Given the description of an element on the screen output the (x, y) to click on. 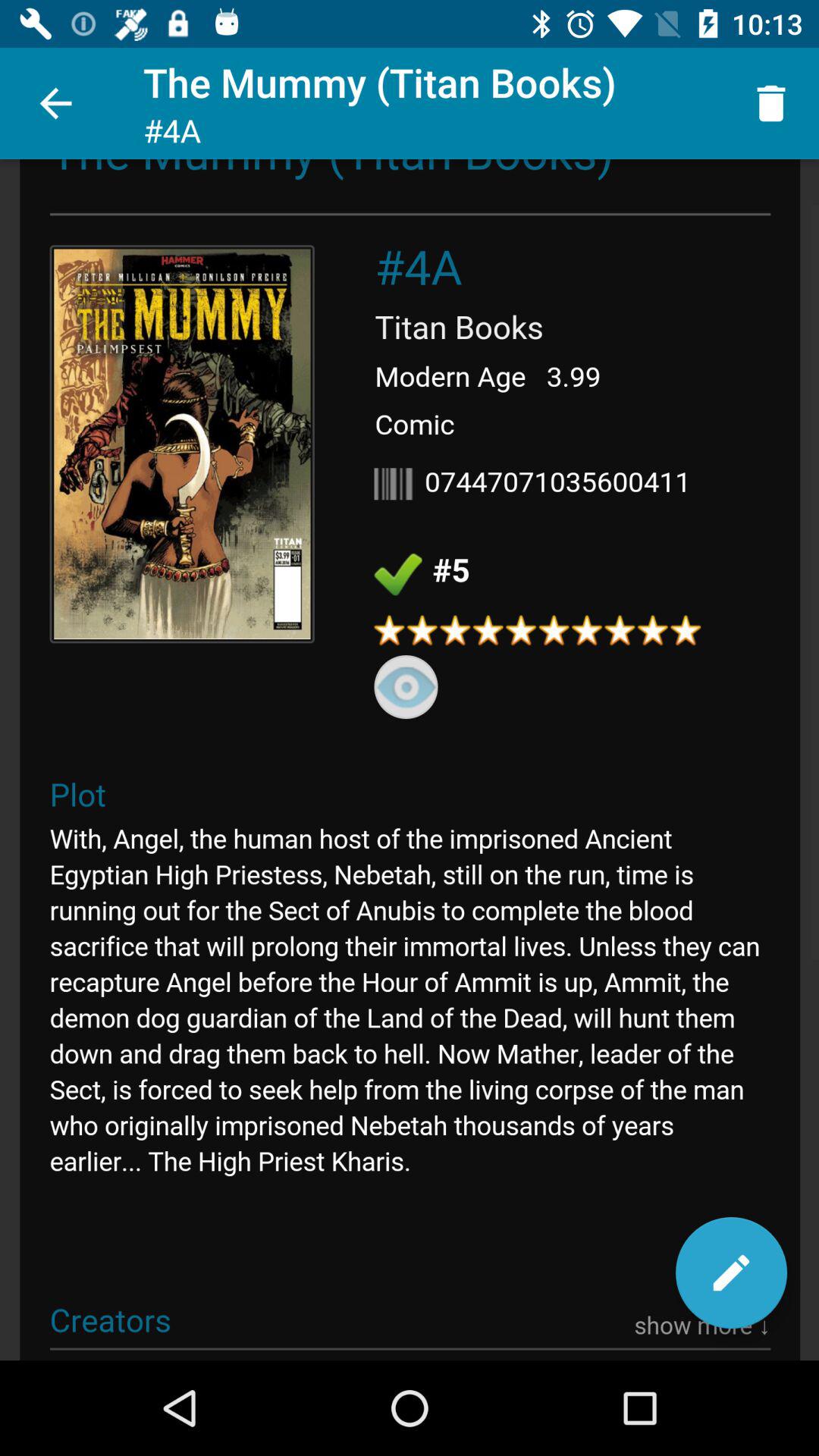
turn off item next to the the mummy titan icon (771, 103)
